Given the description of an element on the screen output the (x, y) to click on. 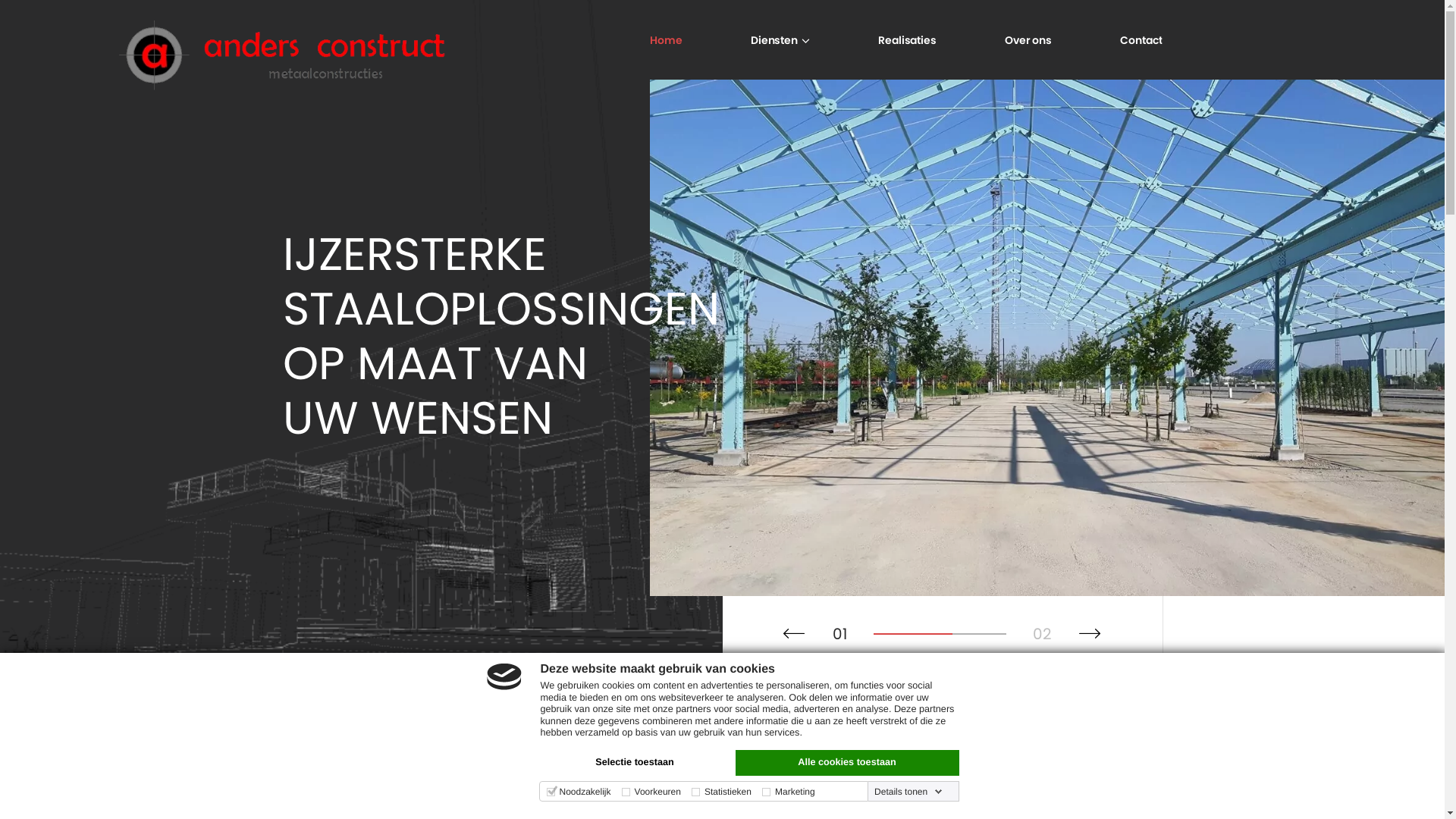
Contact Element type: text (1140, 39)
Over ons Element type: text (1027, 39)
Realisaties Element type: text (907, 39)
Home Element type: text (665, 39)
Diensten Element type: text (773, 39)
Details tonen Element type: text (908, 791)
Anders Construct Element type: hover (282, 54)
Selectie toestaan Element type: text (633, 762)
Alle cookies toestaan Element type: text (847, 762)
